Given the description of an element on the screen output the (x, y) to click on. 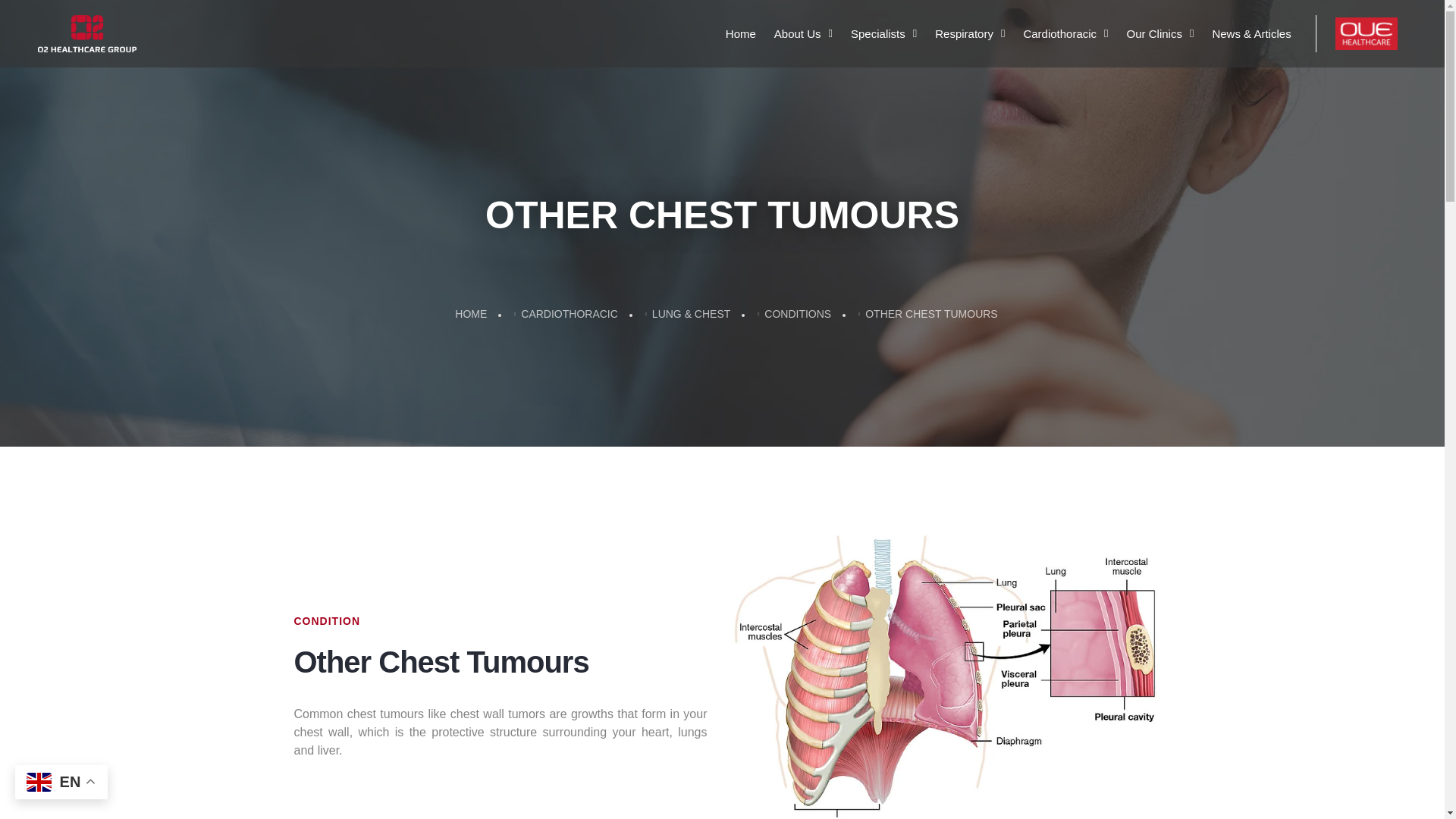
About Us (803, 33)
Respiratory (970, 33)
Home (740, 33)
Specialists (883, 33)
